Given the description of an element on the screen output the (x, y) to click on. 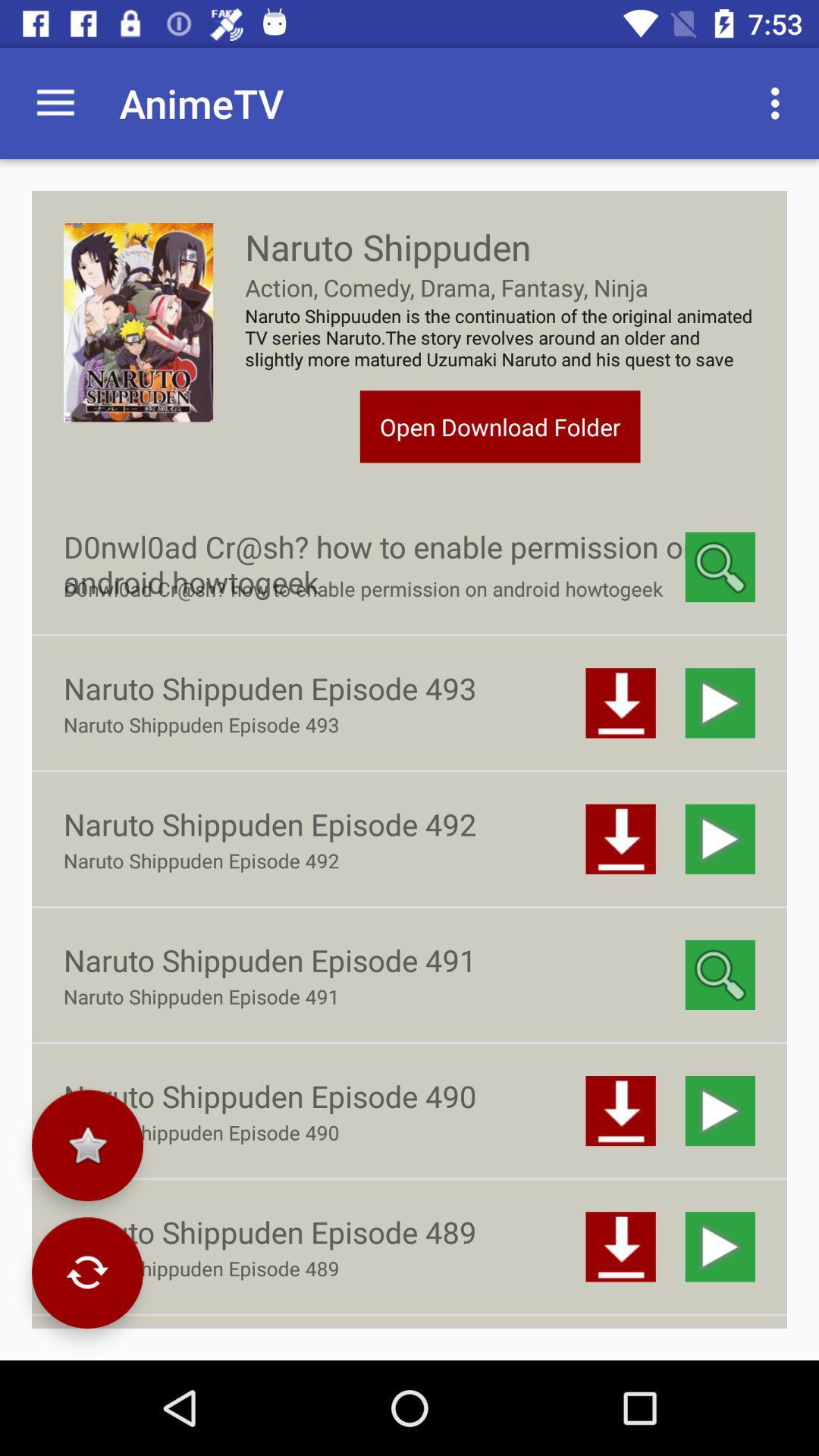
select item to the left of the animetv item (55, 103)
